Given the description of an element on the screen output the (x, y) to click on. 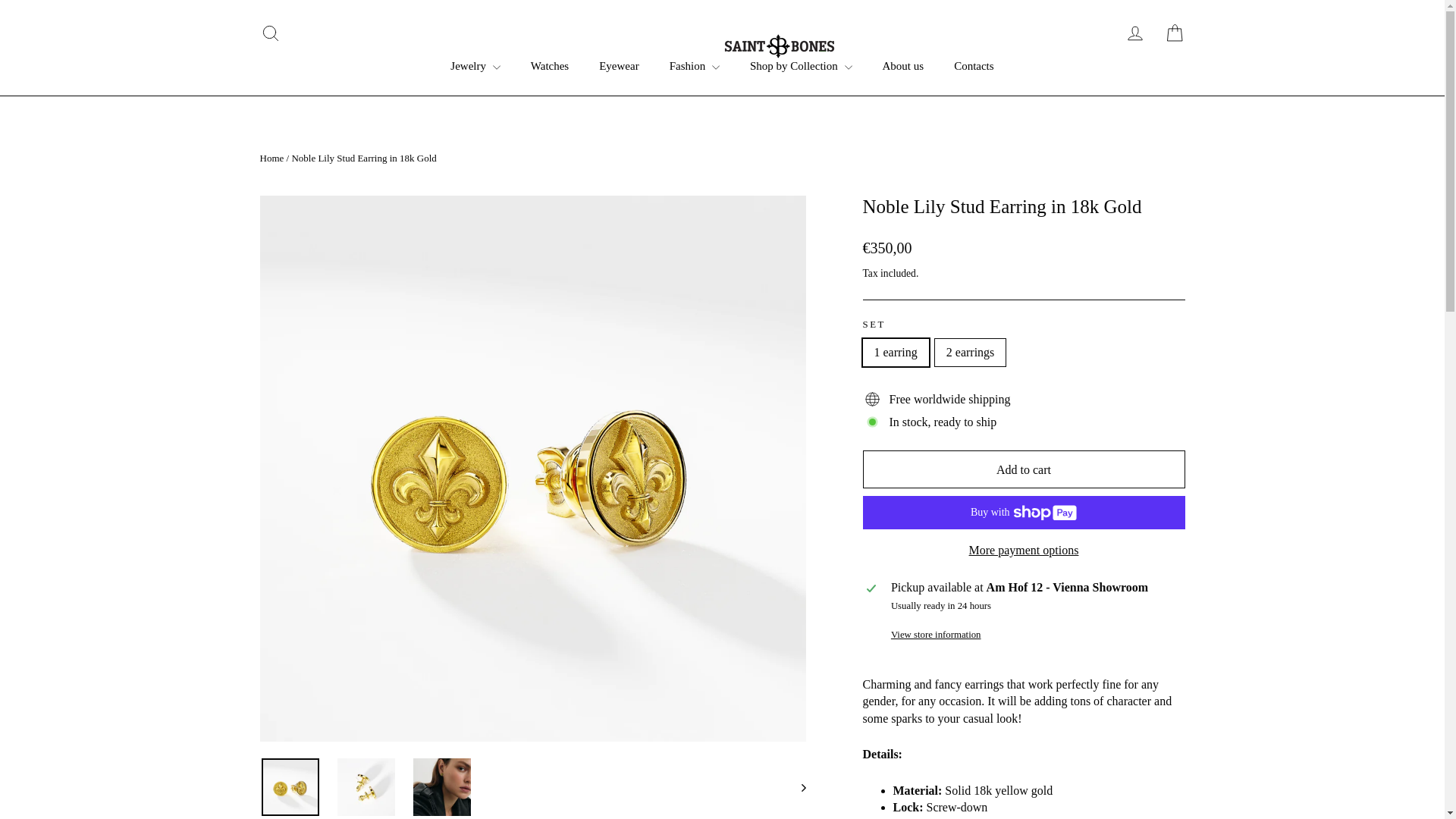
account (1134, 33)
Back to the frontpage (271, 157)
icon-search (270, 33)
